Given the description of an element on the screen output the (x, y) to click on. 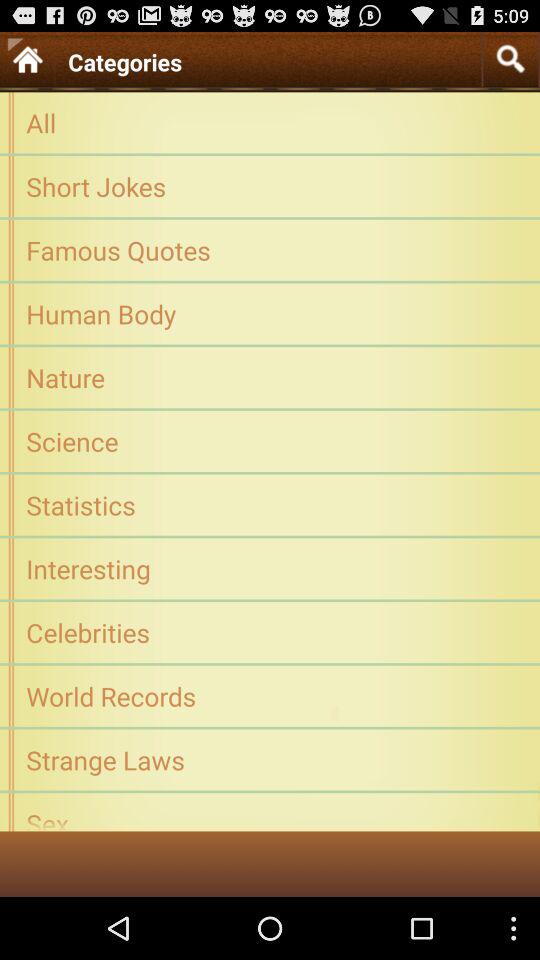
swipe to the nature app (270, 377)
